Given the description of an element on the screen output the (x, y) to click on. 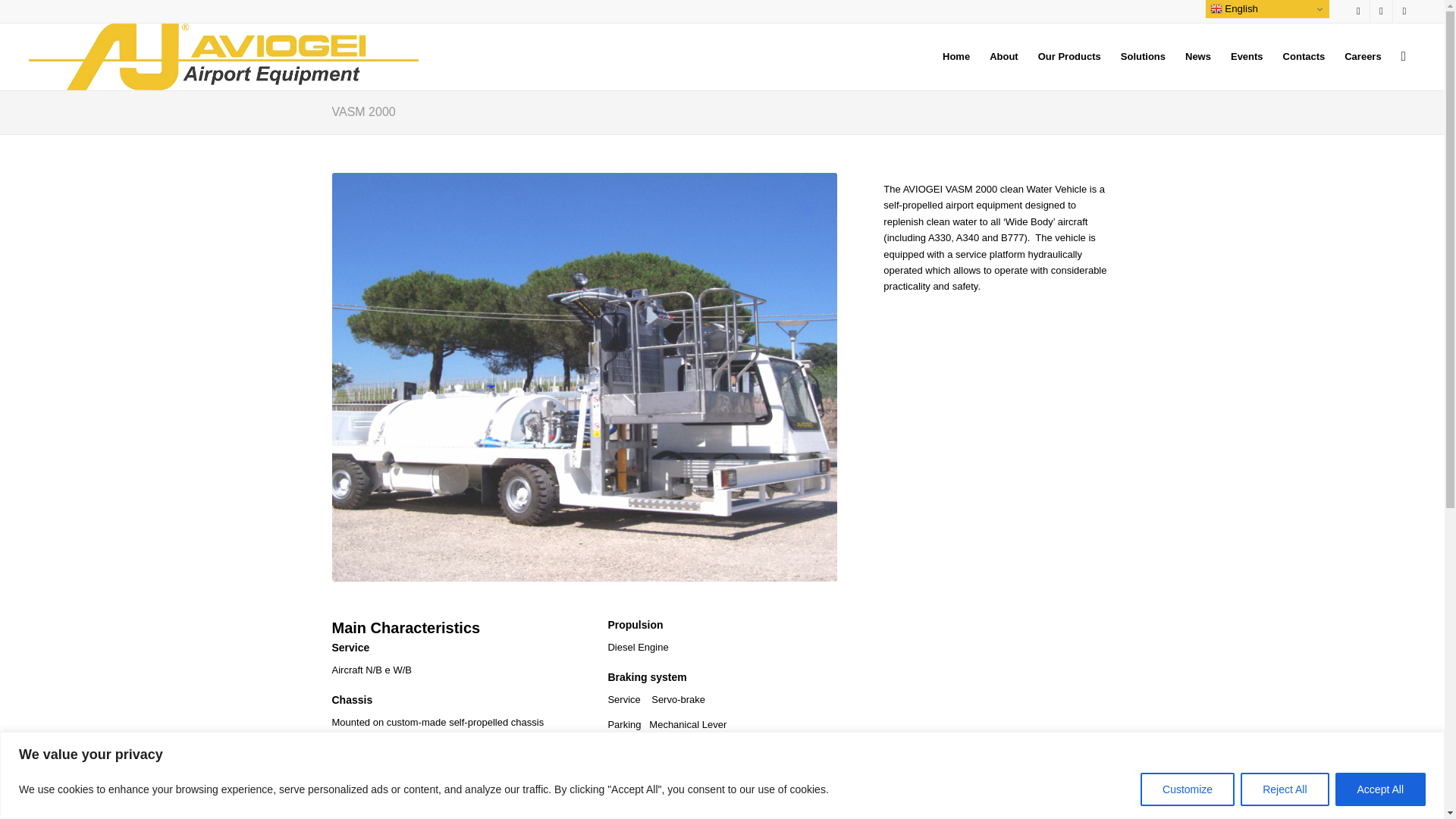
Youtube (1404, 11)
Our Products (1068, 56)
Reject All (1283, 788)
Link Permanente: VASM 2000 (363, 111)
Contacts (1303, 56)
Solutions (1142, 56)
Facebook (1380, 11)
Customize (1187, 788)
VASM 2000 (363, 111)
LinkedIn (1359, 11)
Accept All (1380, 788)
